Given the description of an element on the screen output the (x, y) to click on. 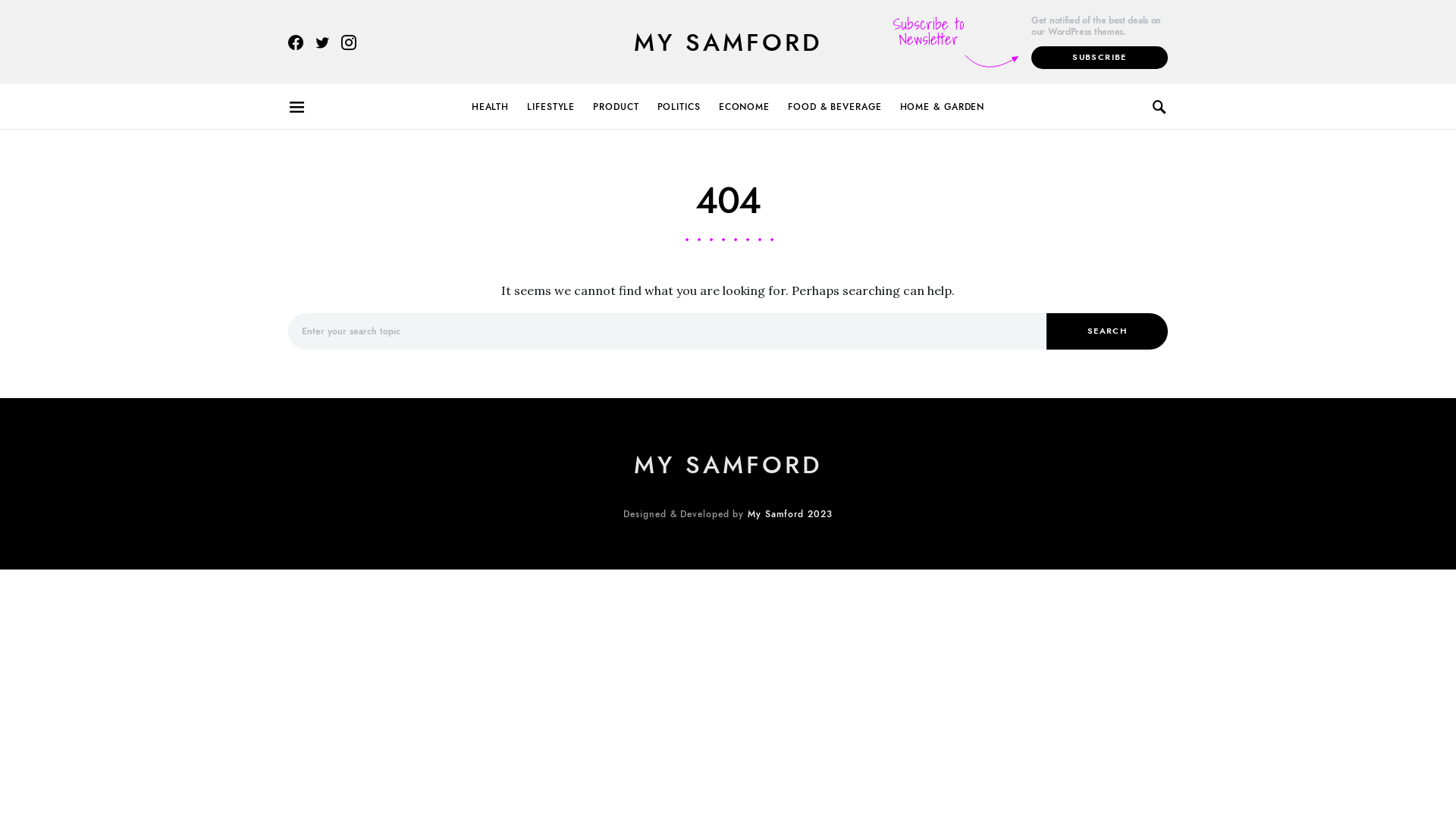
POLITICS Element type: text (678, 106)
PRODUCT Element type: text (615, 106)
HOME & GARDEN Element type: text (938, 106)
SUBSCRIBE Element type: text (1099, 57)
ECONOME Element type: text (743, 106)
MY SAMFORD Element type: text (727, 42)
FOOD & BEVERAGE Element type: text (834, 106)
My Samford 2023 Element type: text (789, 514)
SEARCH Element type: text (1106, 331)
LIFESTYLE Element type: text (550, 106)
HEALTH Element type: text (494, 106)
